Given the description of an element on the screen output the (x, y) to click on. 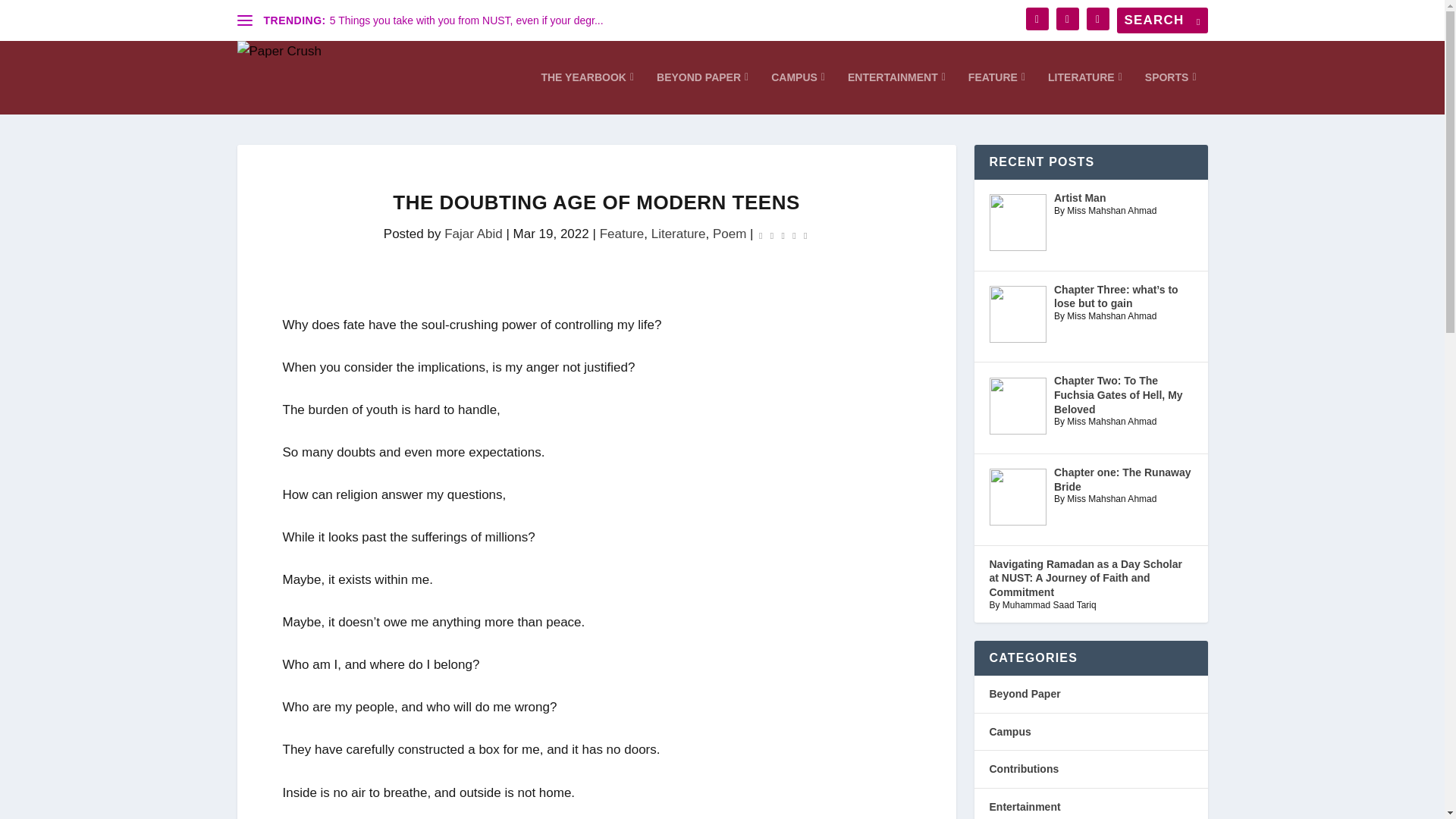
RECENT (1034, 119)
Search for: (1161, 20)
BEYOND PAPER (702, 93)
THE YEARBOOK (586, 93)
5 Things you take with you from NUST, even if your degr... (467, 20)
